Given the description of an element on the screen output the (x, y) to click on. 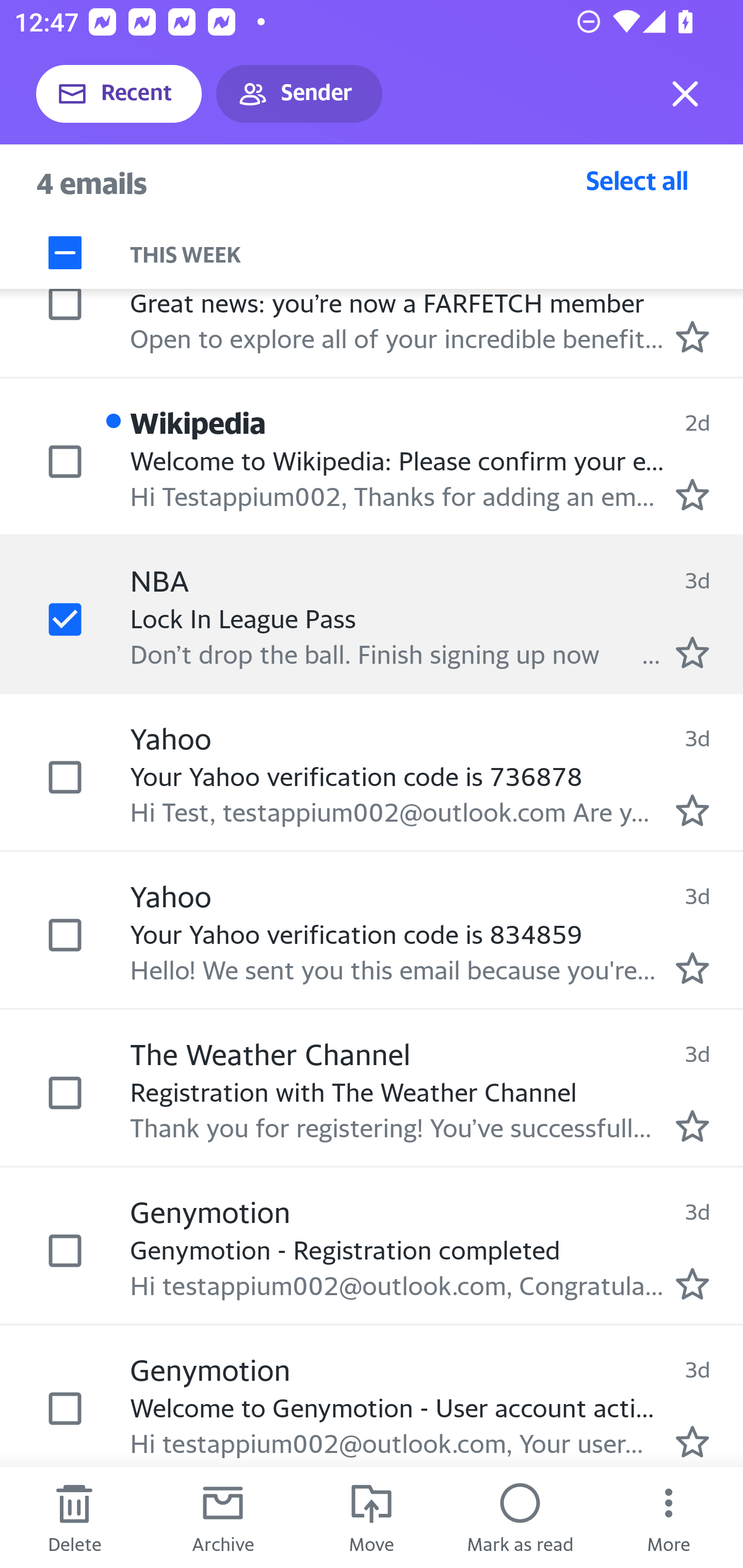
Sender (299, 93)
Exit selection mode (684, 93)
Select all (637, 180)
Mark as starred. (692, 336)
Mark as starred. (692, 494)
Mark as starred. (692, 653)
Mark as starred. (692, 809)
Mark as starred. (692, 968)
Mark as starred. (692, 1126)
Mark as starred. (692, 1283)
Mark as starred. (692, 1441)
Delete (74, 1517)
Archive (222, 1517)
Move (371, 1517)
Mark as read (519, 1517)
More (668, 1517)
